Given the description of an element on the screen output the (x, y) to click on. 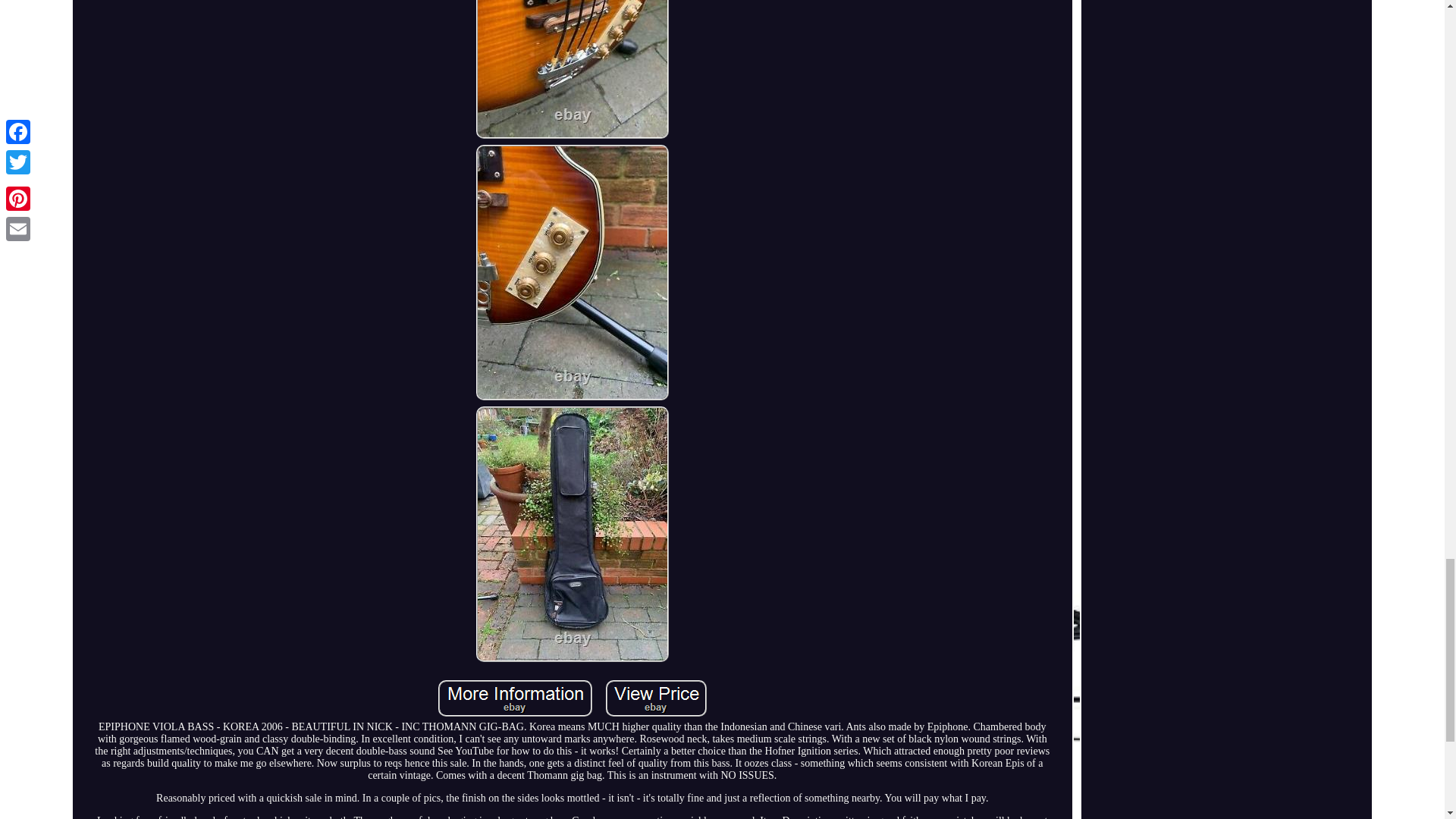
Epiphone Viola Bass 2006 Korea Beautiful Condition Gig Bag (515, 698)
Epiphone Viola Bass 2006 Korea Beautiful Condition Gig Bag (655, 698)
Epiphone Viola Bass 2006 Korea Beautiful Condition Gig Bag (572, 69)
